Given the description of an element on the screen output the (x, y) to click on. 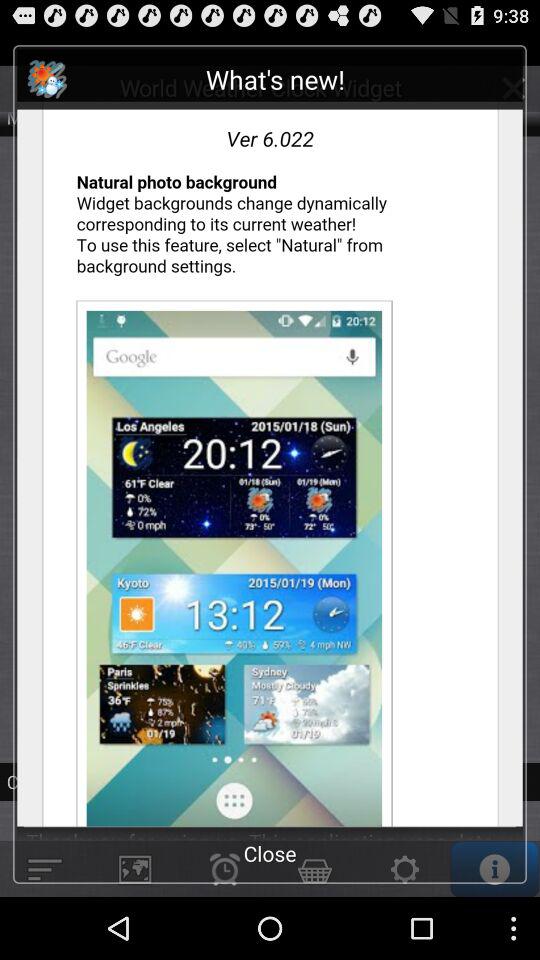
whats new details (269, 444)
